Given the description of an element on the screen output the (x, y) to click on. 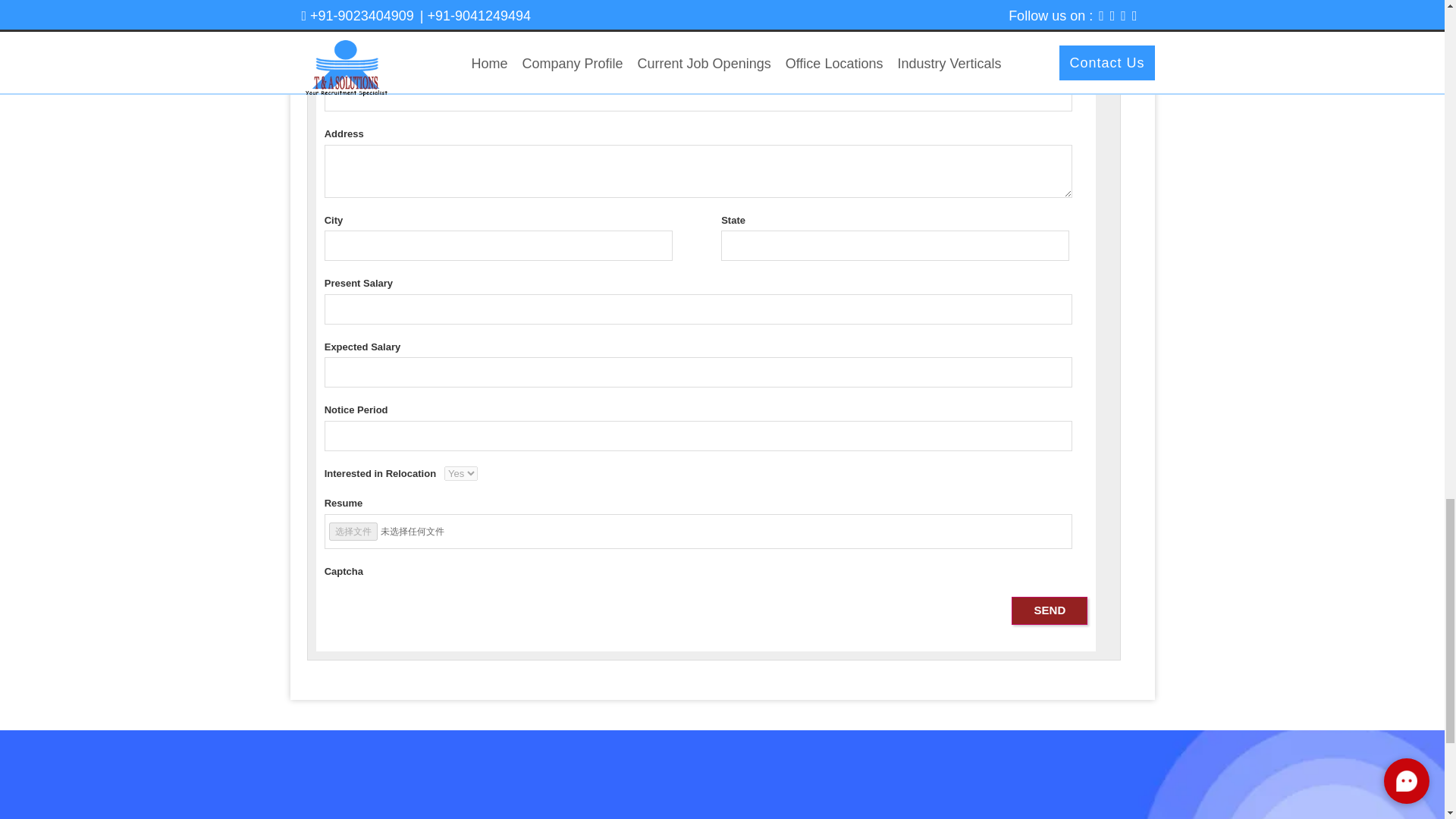
Send (1049, 610)
